Given the description of an element on the screen output the (x, y) to click on. 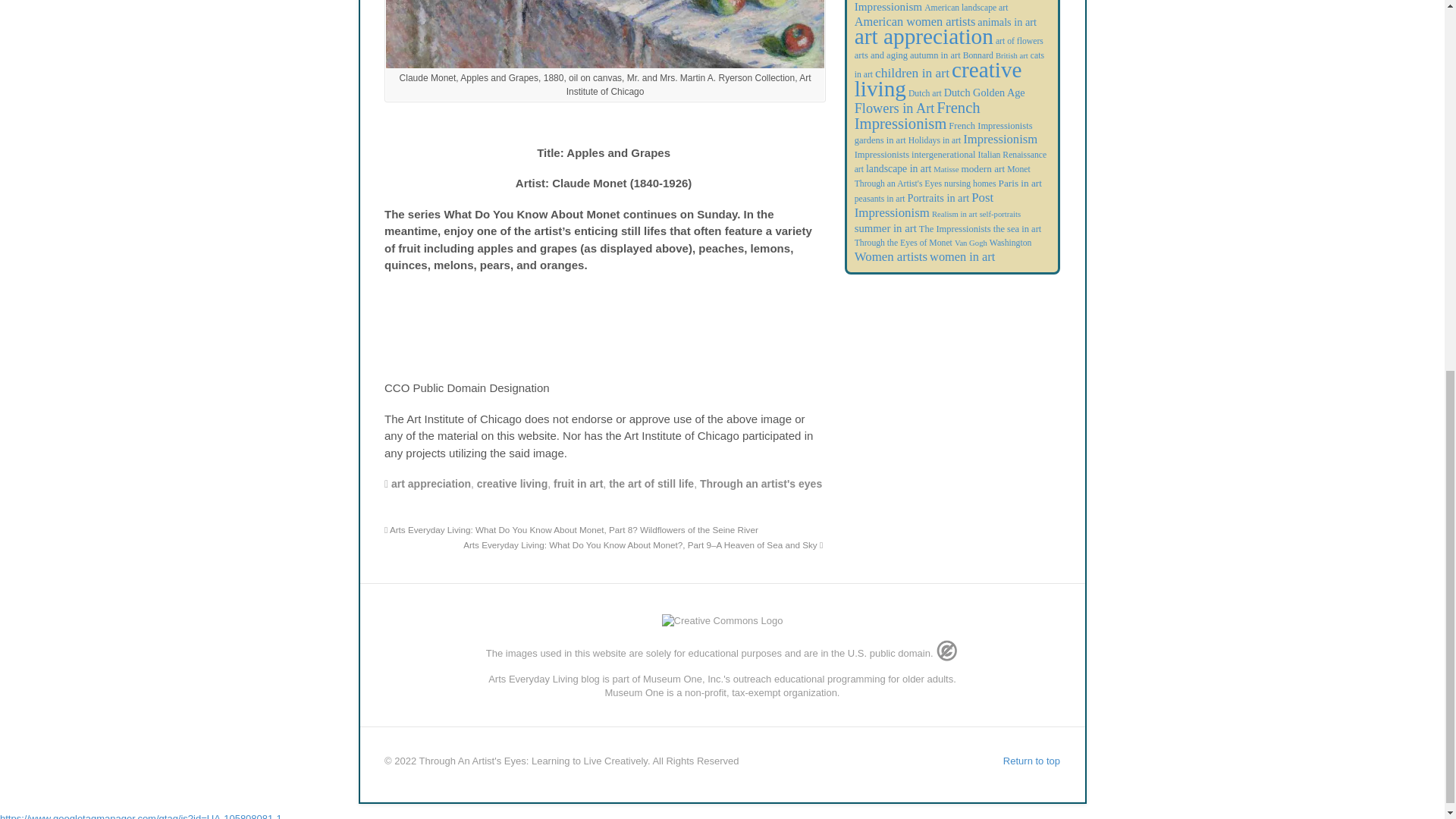
art appreciation (430, 483)
American women artists (914, 21)
cats in art (948, 64)
arts and aging (880, 54)
autumn in art (935, 54)
children in art (912, 72)
art of flowers (1019, 40)
Through an artist's eyes (761, 483)
creative living (938, 78)
